Given the description of an element on the screen output the (x, y) to click on. 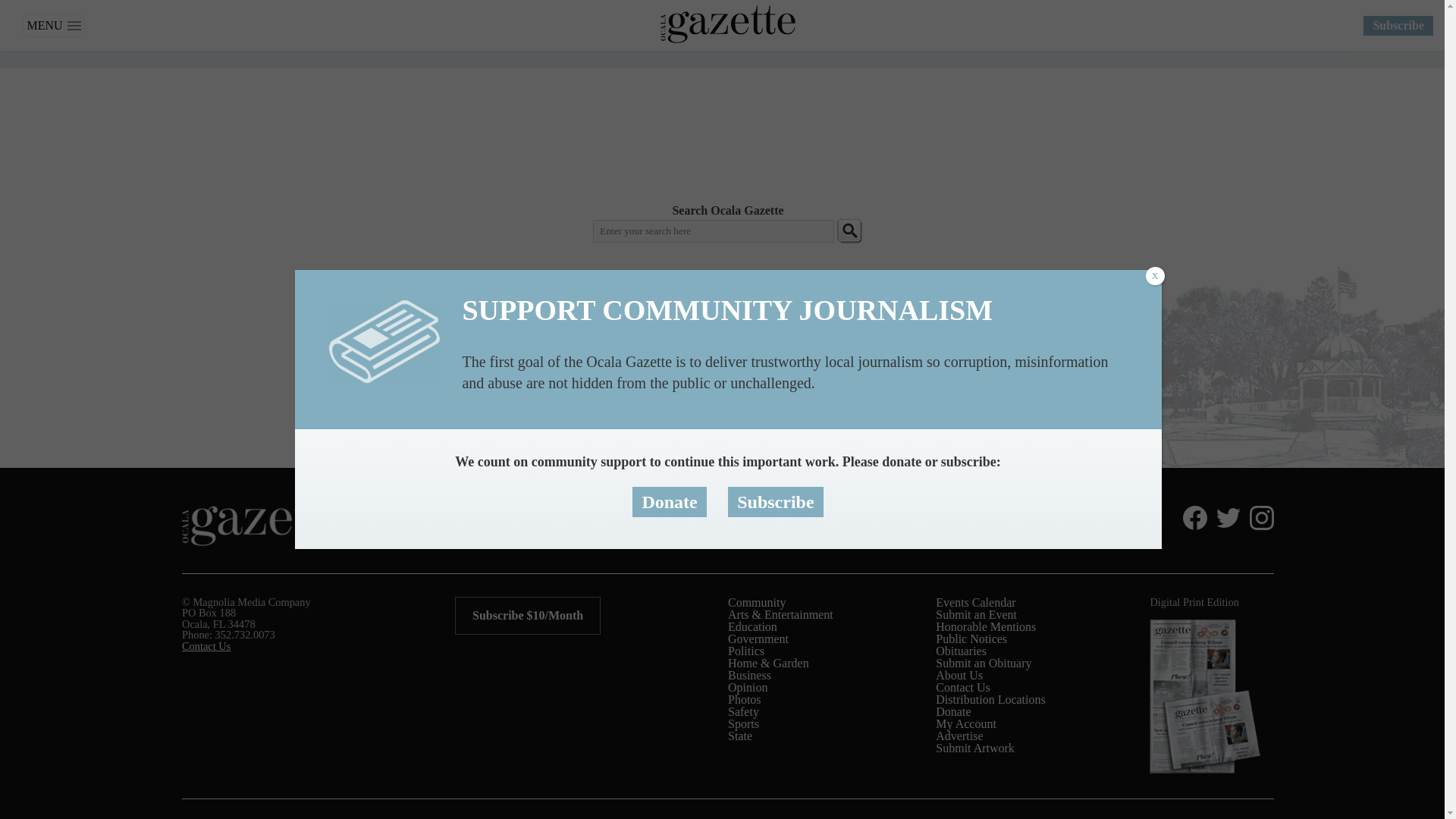
Twitter icon (1227, 517)
Instagram icon (1261, 517)
Follow Heart of Florida Health Center on Twitter (1224, 517)
Facebook icon (1194, 517)
Follow Heart of Florida Health Center on Instagram (1258, 517)
Follow Heart of Florida Health Center on Facebook (1191, 517)
